Given the description of an element on the screen output the (x, y) to click on. 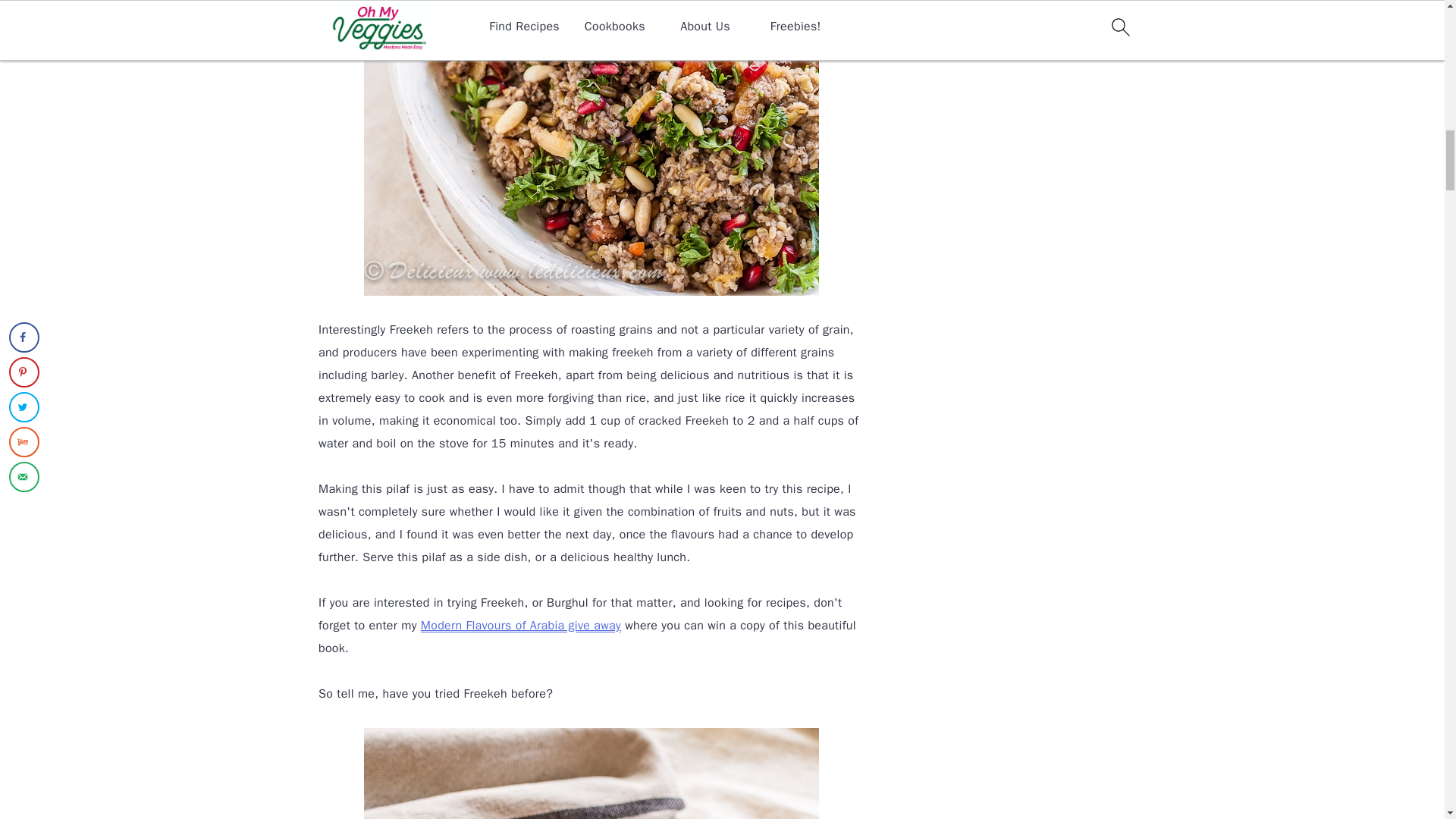
Pomegranates (591, 773)
Spinach Filled Filo Triangles (520, 625)
